Given the description of an element on the screen output the (x, y) to click on. 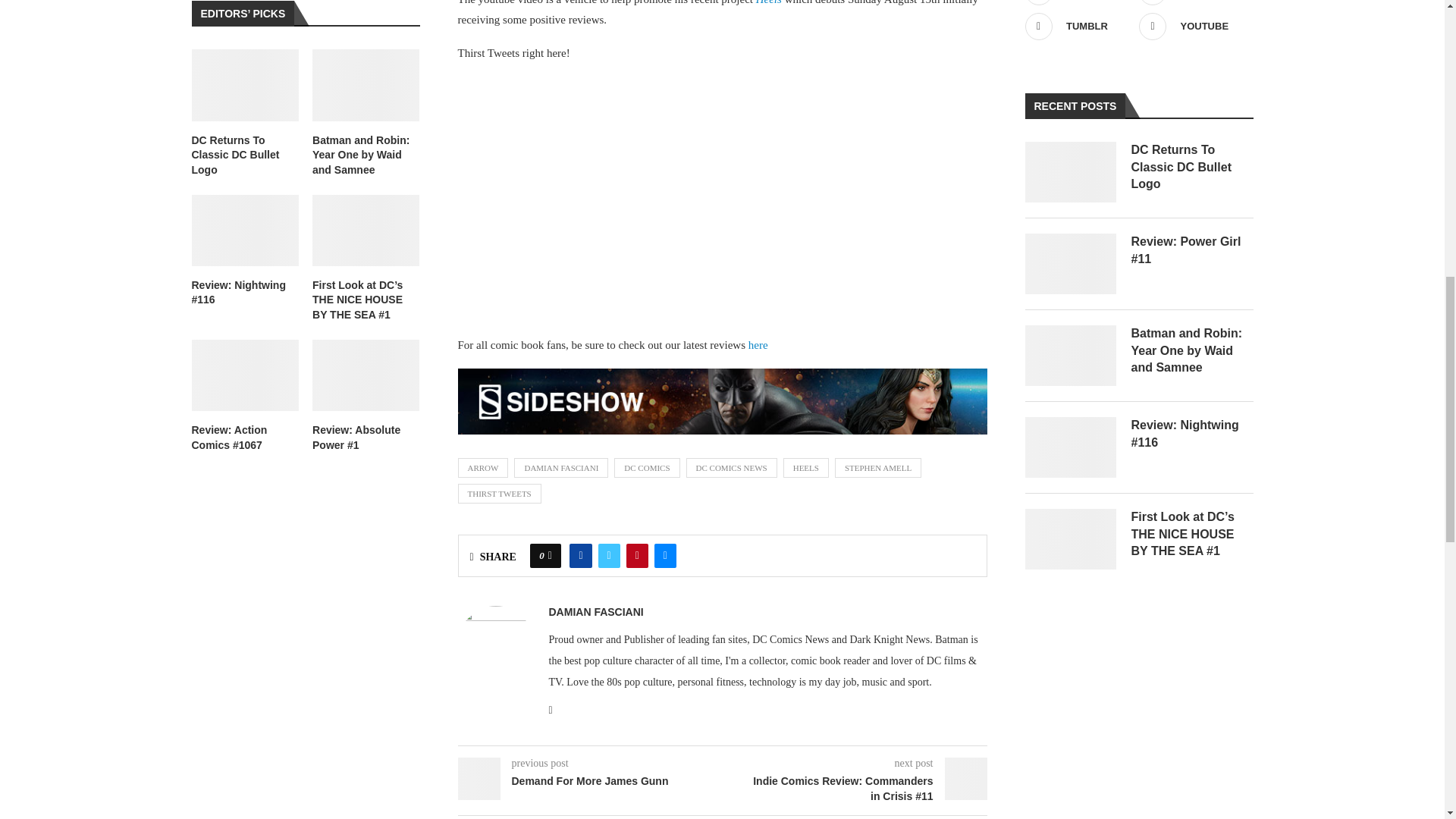
Author Damian Fasciani (595, 612)
YouTube video player (670, 195)
